Given the description of an element on the screen output the (x, y) to click on. 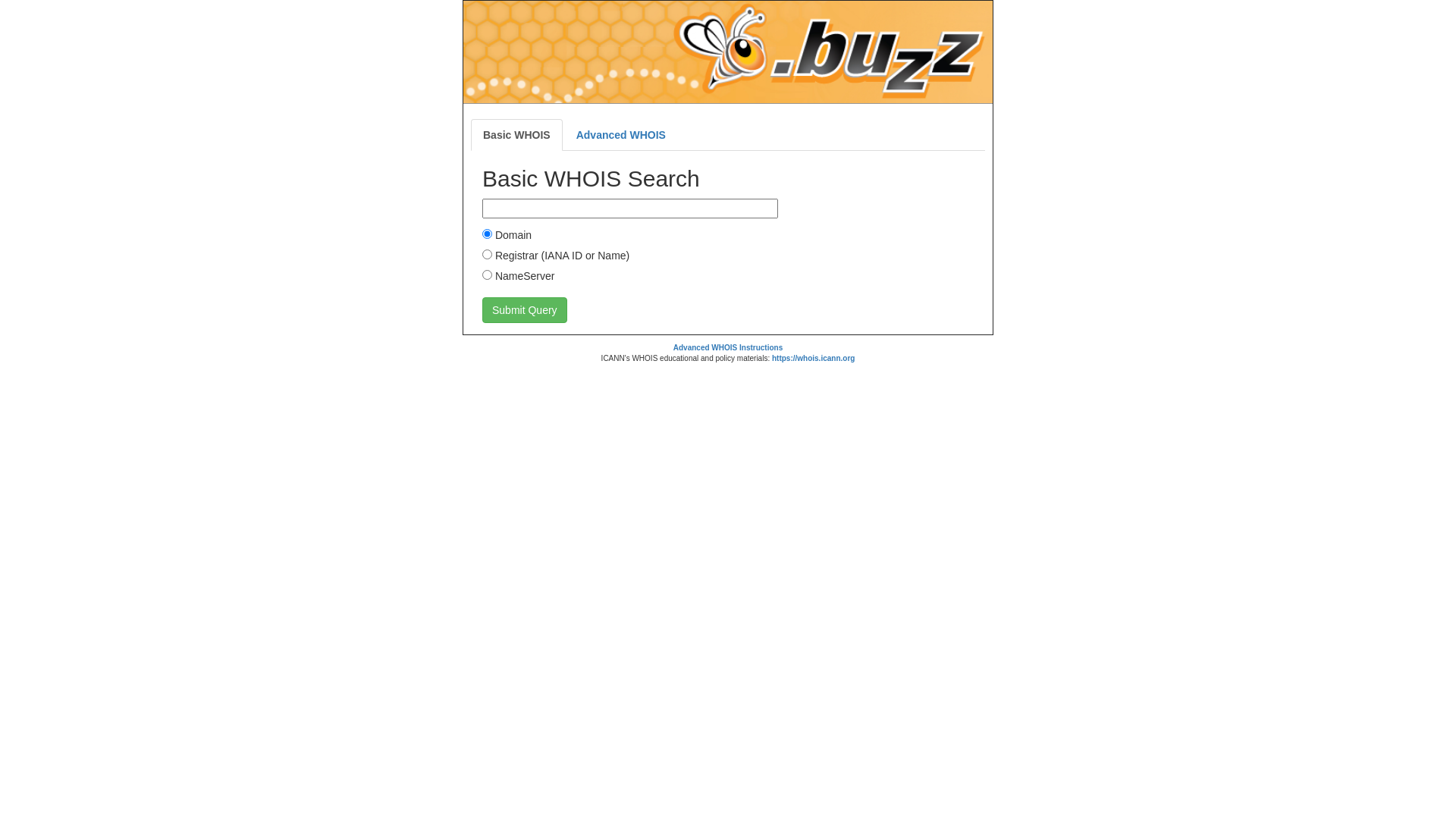
https://whois.icann.org Element type: text (812, 358)
Advanced WHOIS Instructions Element type: text (727, 347)
Submit Query Element type: text (524, 310)
Advanced WHOIS Element type: text (620, 134)
Basic WHOIS Element type: text (516, 134)
